Given the description of an element on the screen output the (x, y) to click on. 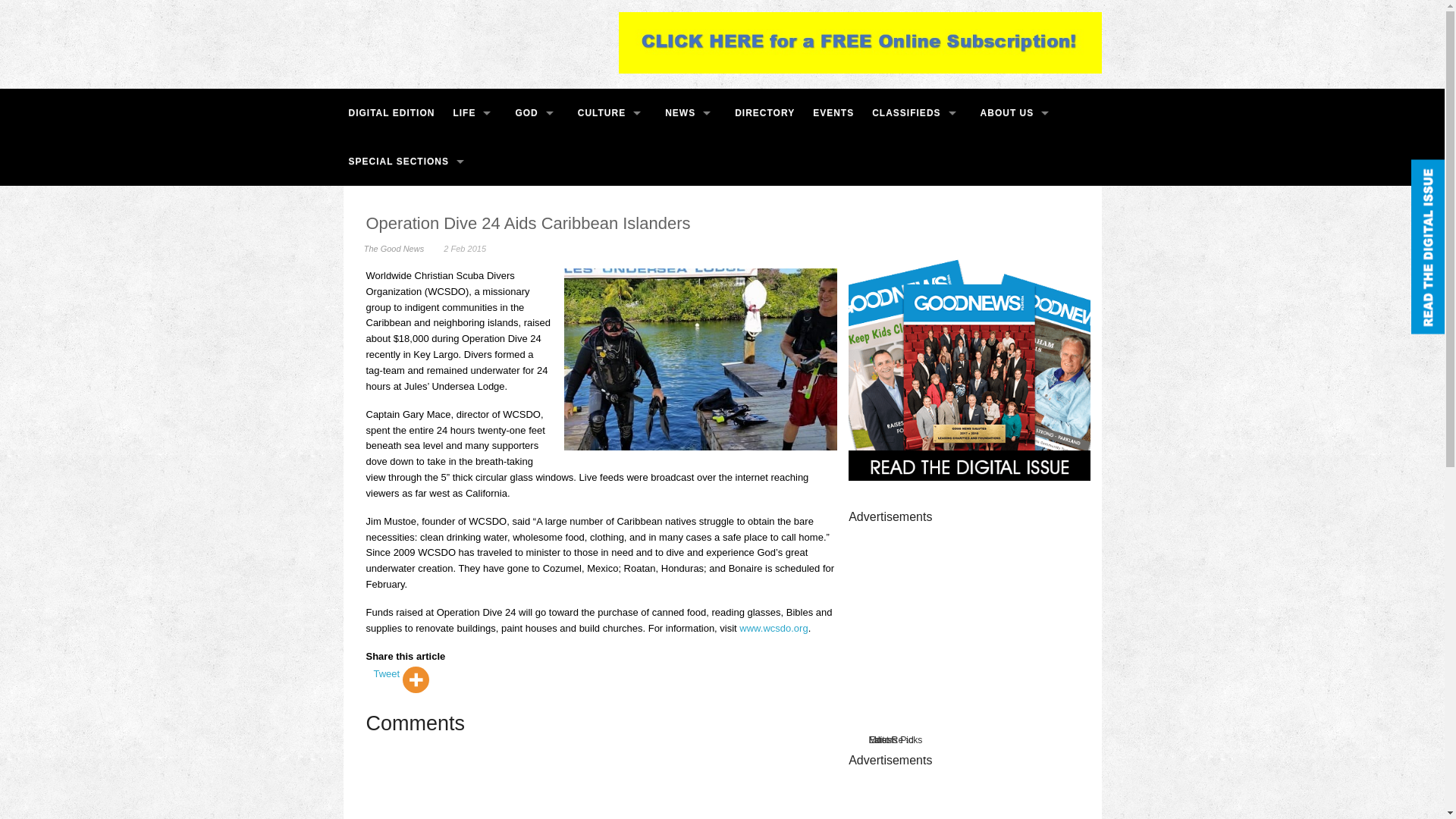
Advertisement (968, 617)
DIGITAL EDITION (390, 112)
CULTURE (612, 112)
Good News Christian News (465, 36)
Good News Christian News (465, 36)
LIFE (474, 112)
Advertisement (968, 792)
More (416, 679)
ABOUT US (1018, 112)
EVENTS (833, 112)
CLASSIFIEDS (916, 112)
DIRECTORY (764, 112)
SPECIAL SECTIONS (408, 161)
GOD (536, 112)
NEWS (690, 112)
